Given the description of an element on the screen output the (x, y) to click on. 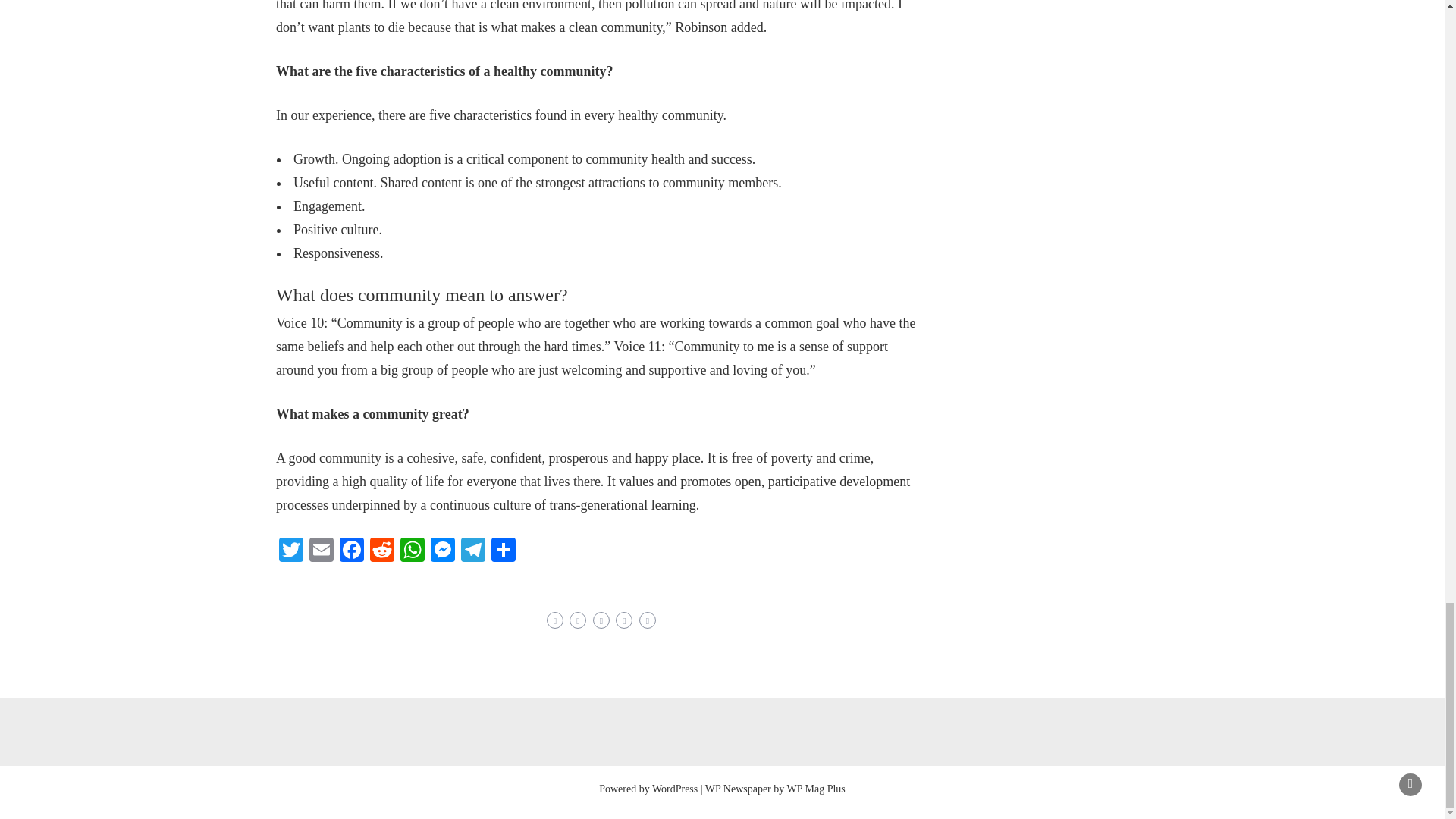
Messenger (443, 551)
Twitter (290, 551)
Messenger (443, 551)
Email (320, 551)
Facebook (351, 551)
Reddit (381, 551)
Share (502, 551)
Email (320, 551)
Telegram (472, 551)
WhatsApp (412, 551)
Facebook (351, 551)
Telegram (472, 551)
Reddit (381, 551)
Twitter (290, 551)
WhatsApp (412, 551)
